Given the description of an element on the screen output the (x, y) to click on. 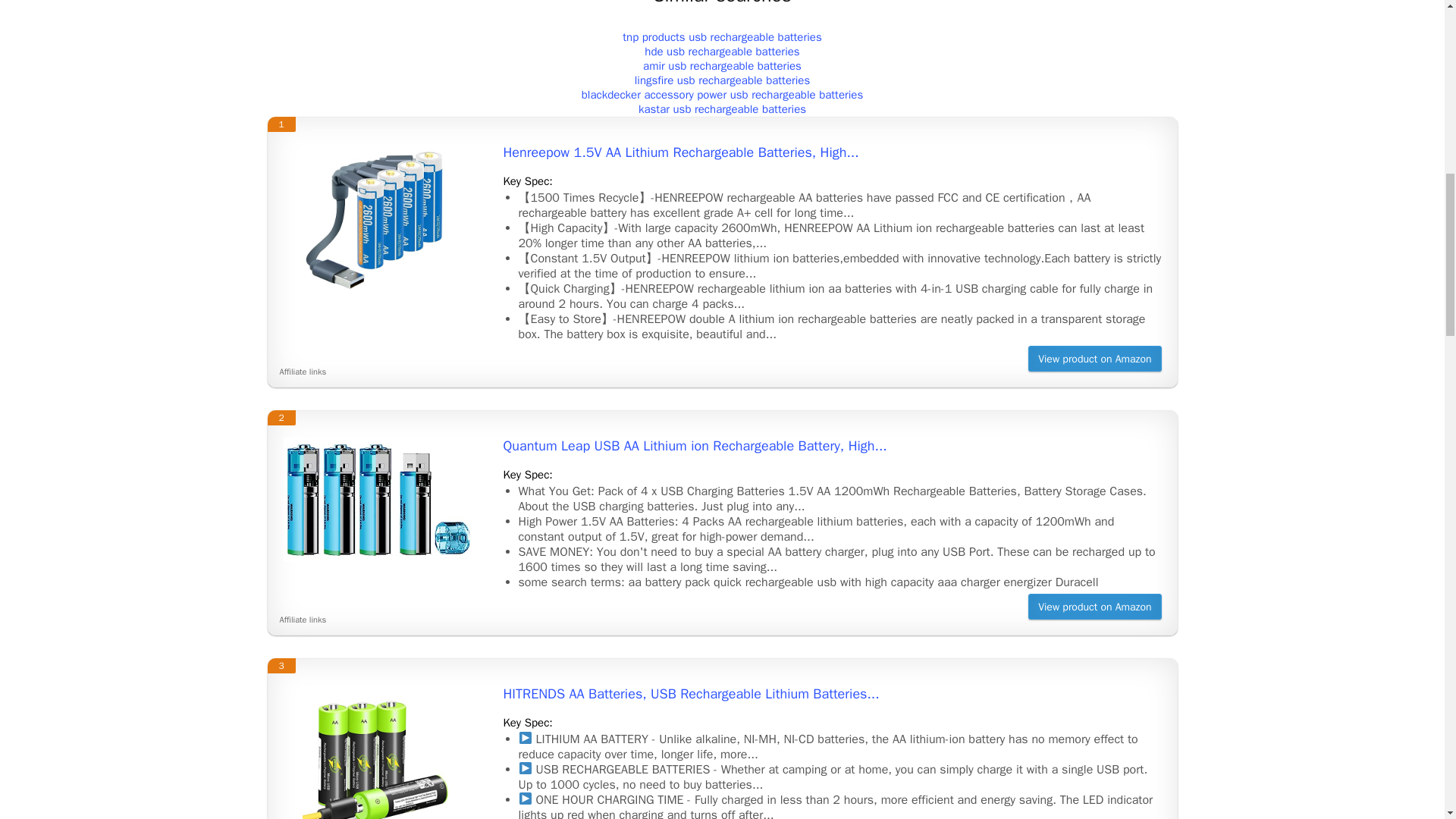
lingsfire usb rechargeable batteries (722, 79)
blackdecker accessory power usb rechargeable batteries (721, 94)
amir usb rechargeable batteries (722, 65)
hde usb rechargeable batteries (722, 51)
amir usb rechargeable batteries (722, 65)
View product on Amazon (1093, 606)
lingsfire usb rechargeable batteries (722, 79)
hde usb rechargeable batteries (722, 51)
tnp products usb rechargeable batteries (722, 37)
kastar usb rechargeable batteries (722, 109)
kastar usb rechargeable batteries (722, 109)
tnp products usb rechargeable batteries (722, 37)
blackdecker accessory power usb rechargeable batteries (721, 94)
View product on Amazon (1093, 358)
